Given the description of an element on the screen output the (x, y) to click on. 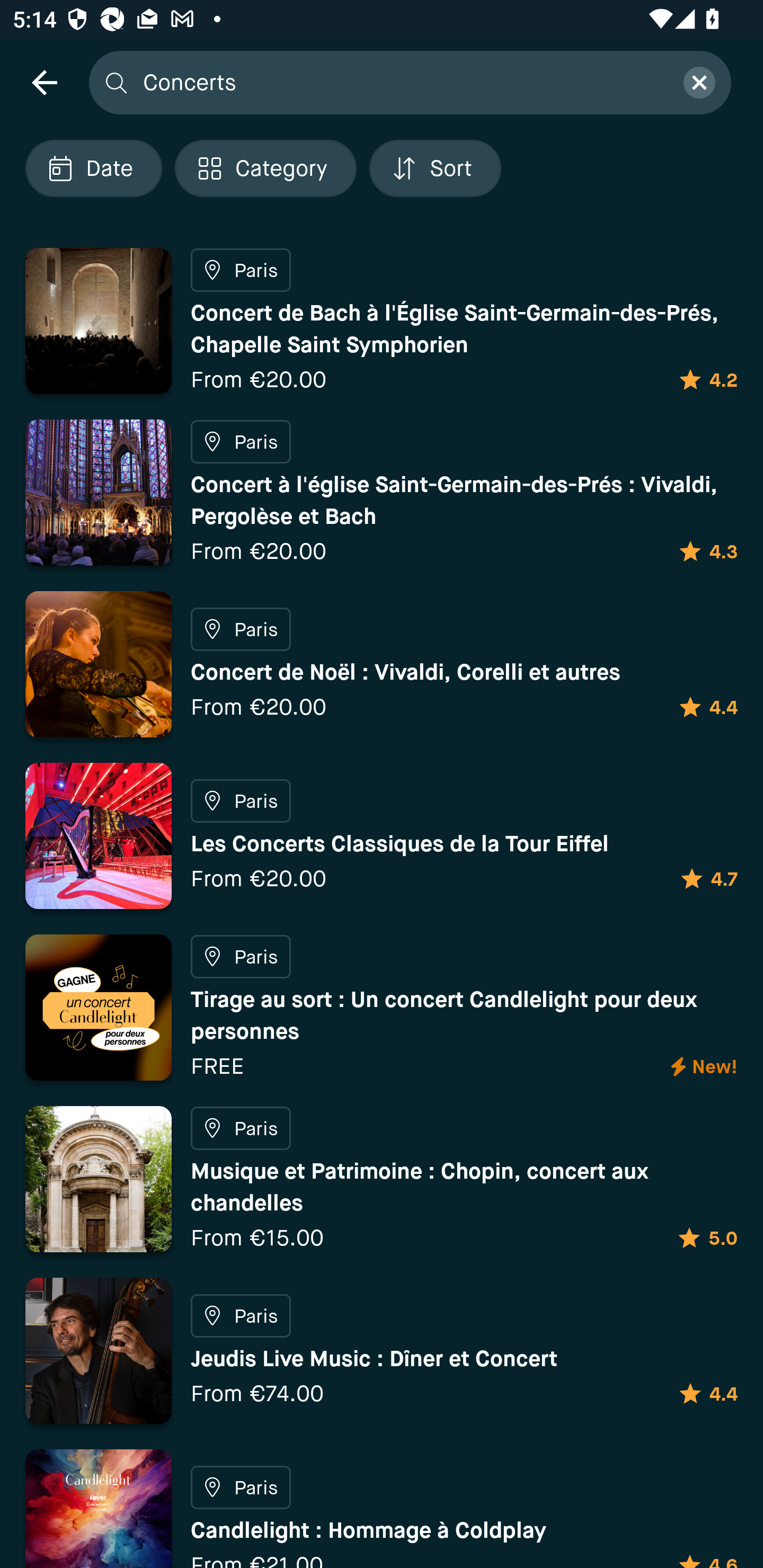
navigation icon (44, 81)
Concerts (402, 81)
Localized description Date (93, 168)
Localized description Category (265, 168)
Localized description Sort (435, 168)
